Given the description of an element on the screen output the (x, y) to click on. 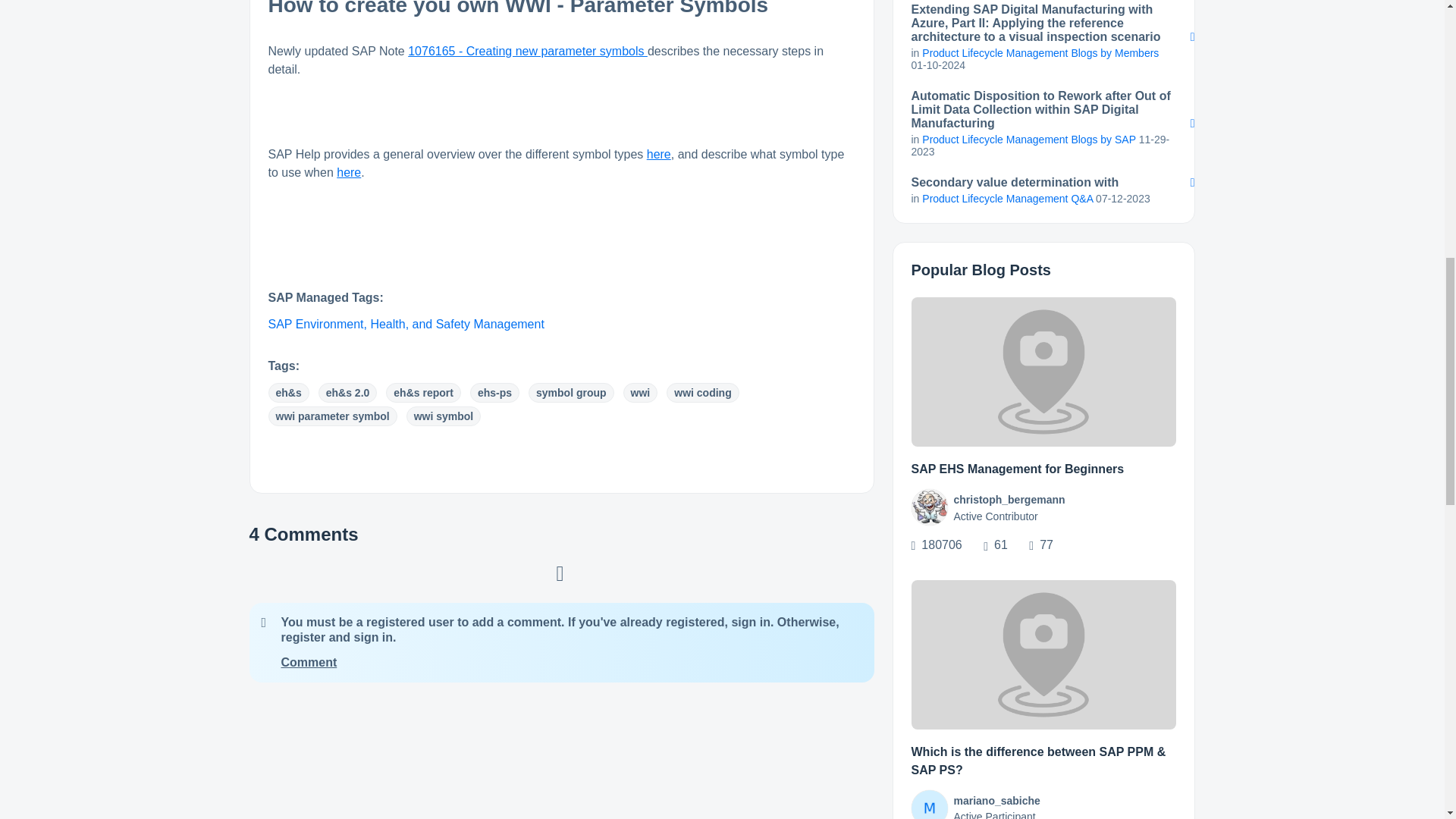
View article (1043, 371)
SAP Environment, Health, and Safety Management (405, 323)
symbol group (571, 392)
wwi coding (702, 392)
Comment (308, 662)
here (348, 172)
here (658, 154)
ehs-ps (494, 392)
wwi parameter symbol (332, 415)
1076165 - Creating new parameter symbols (527, 51)
